Given the description of an element on the screen output the (x, y) to click on. 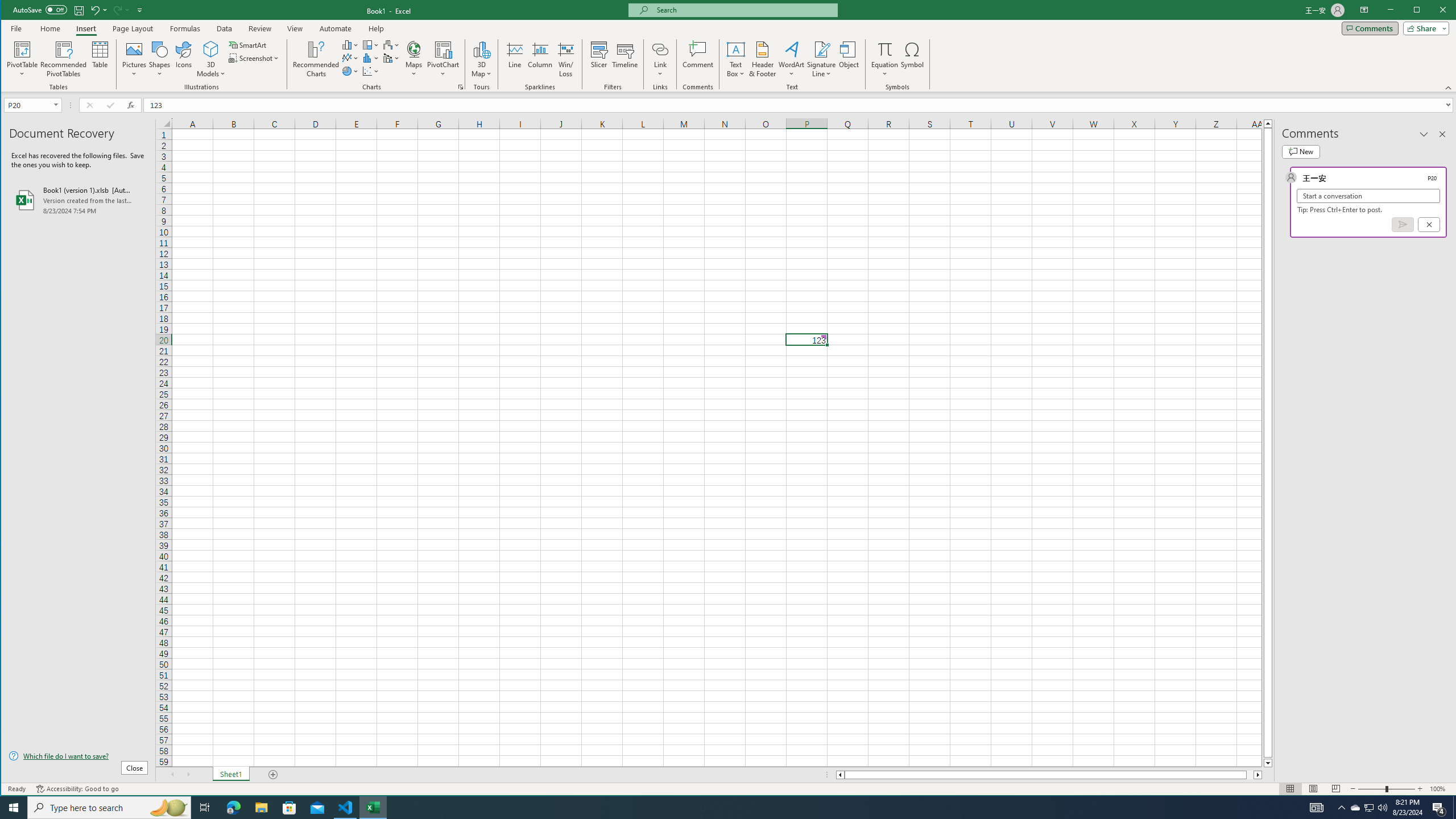
Symbol... (912, 59)
Slicer... (598, 59)
Draw Horizontal Text Box (735, 48)
Link (659, 48)
Insert Pie or Doughnut Chart (350, 70)
Pictures (134, 59)
Action Center, 4 new notifications (1439, 807)
Header & Footer... (762, 59)
